Given the description of an element on the screen output the (x, y) to click on. 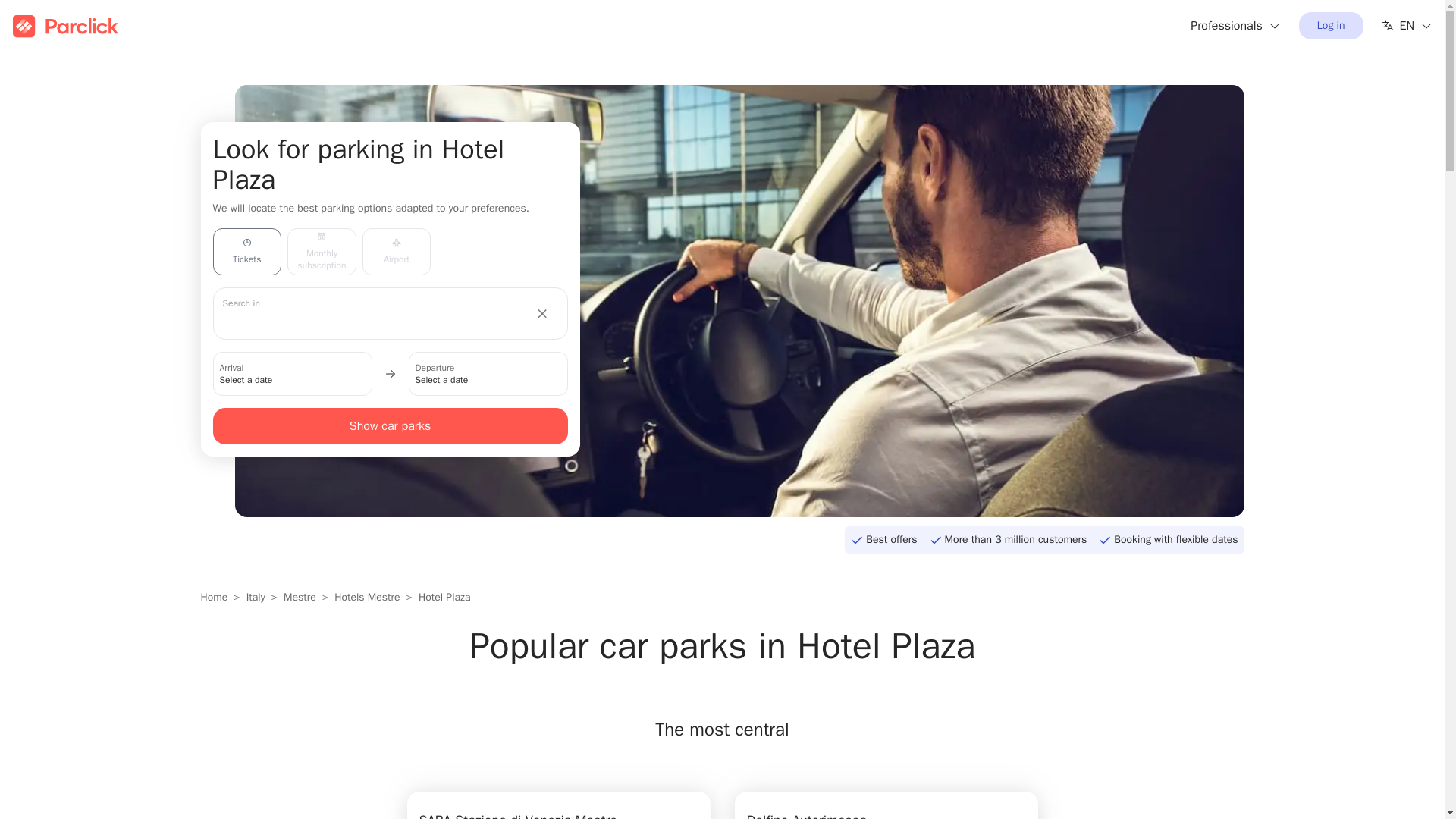
Tickets (246, 251)
Italy (255, 597)
Monthly subscription (321, 251)
Hotels Mestre (366, 597)
Airport (396, 251)
Tickets (246, 251)
Clear all (543, 313)
Show car parks (389, 425)
Hotels Mestre (366, 597)
Professionals (1236, 25)
EN (1406, 25)
Home (213, 597)
Delfino Autorimessa Car park (884, 805)
Home (213, 597)
Mestre (299, 597)
